Given the description of an element on the screen output the (x, y) to click on. 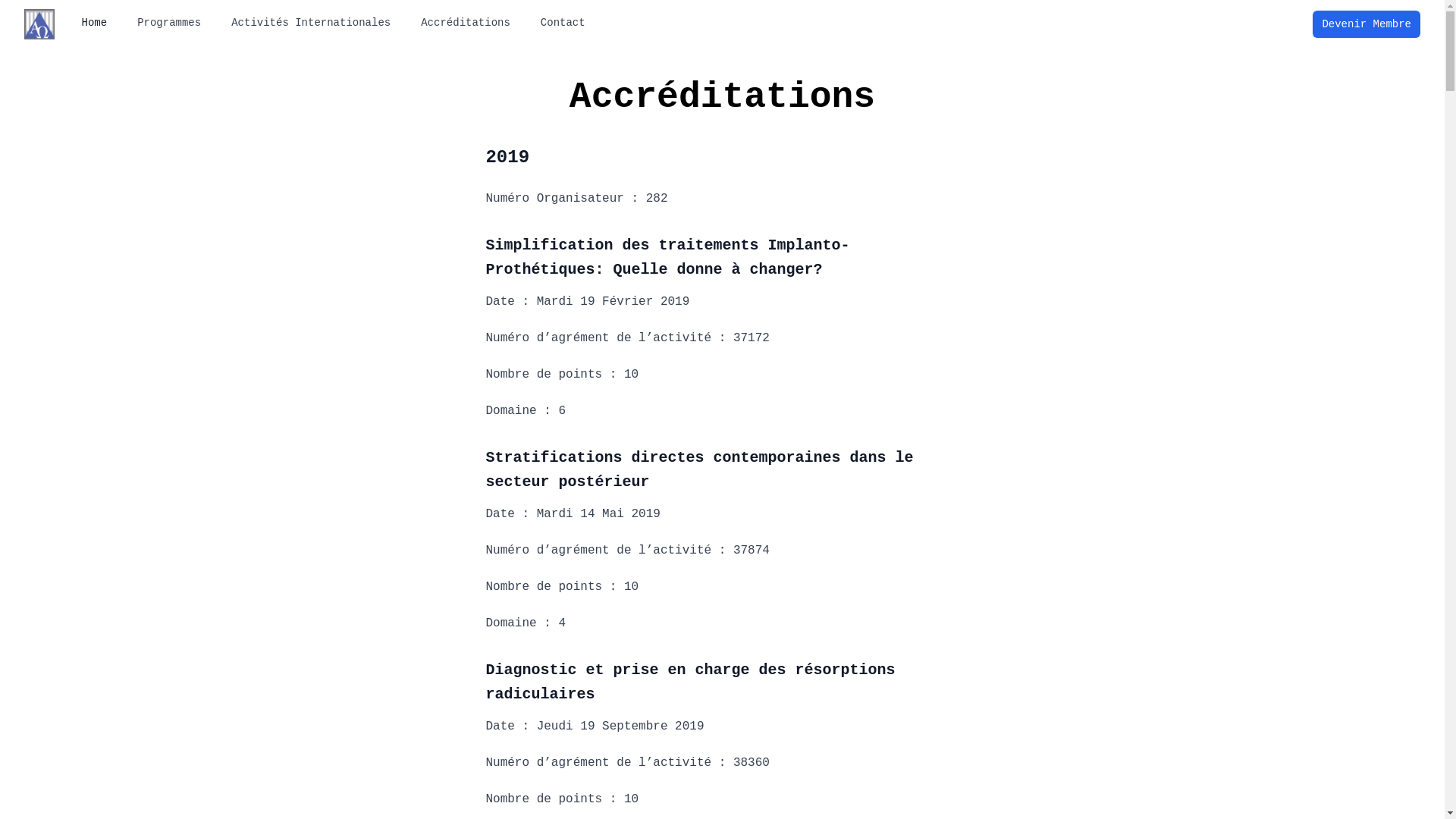
Devenir Membre Element type: text (1366, 23)
Contact Element type: text (562, 22)
Programmes Element type: text (169, 22)
Home Element type: text (94, 22)
